Given the description of an element on the screen output the (x, y) to click on. 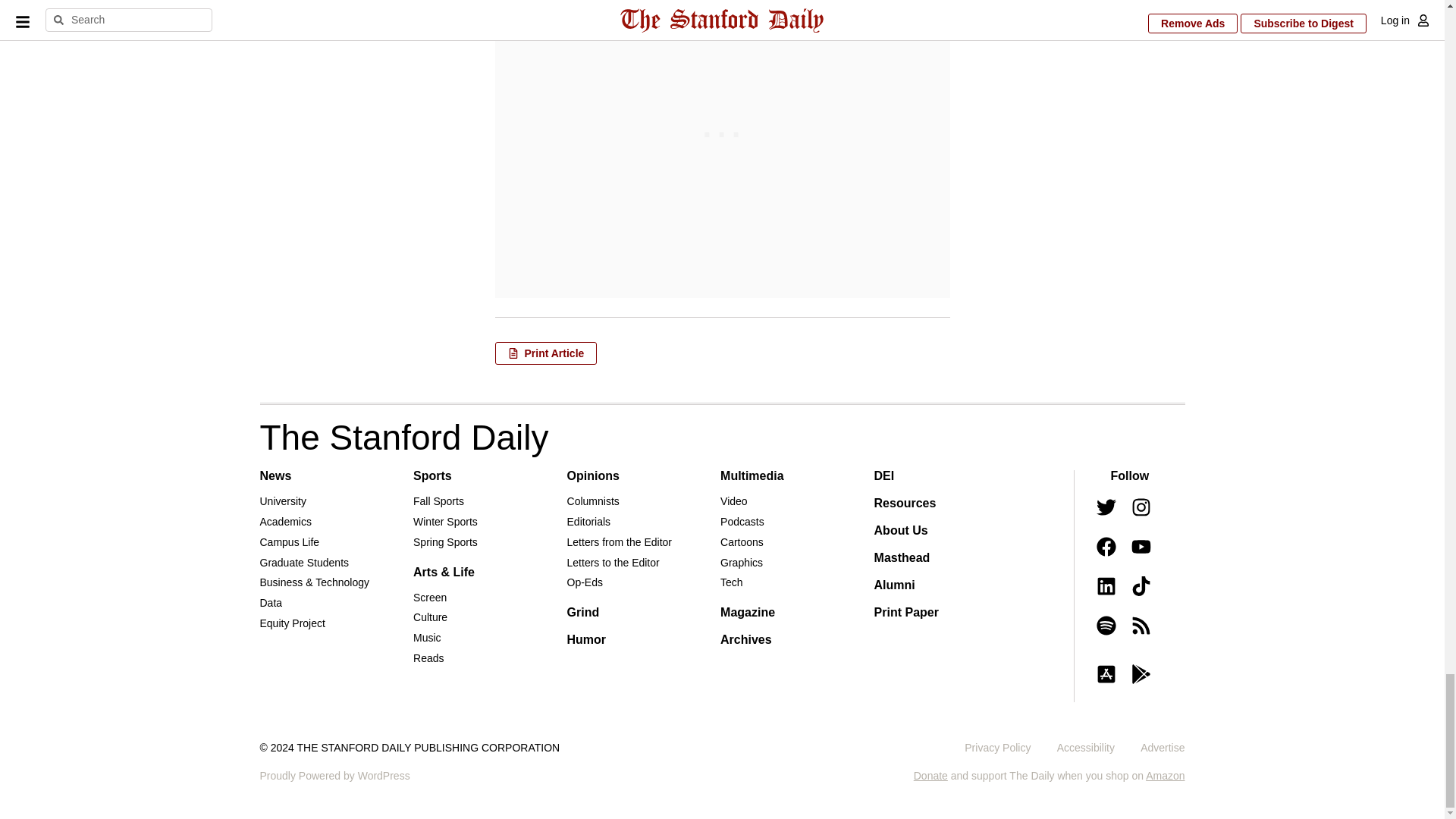
Campus Life (288, 541)
Fall Sports (438, 500)
Print Article (545, 353)
University (282, 500)
News (275, 475)
Graduate Students (304, 562)
Winter Sports (445, 521)
Academics (285, 521)
Equity Project (291, 623)
The Stanford Daily (403, 437)
Data (270, 603)
Spring Sports (445, 541)
Sports (432, 475)
